Given the description of an element on the screen output the (x, y) to click on. 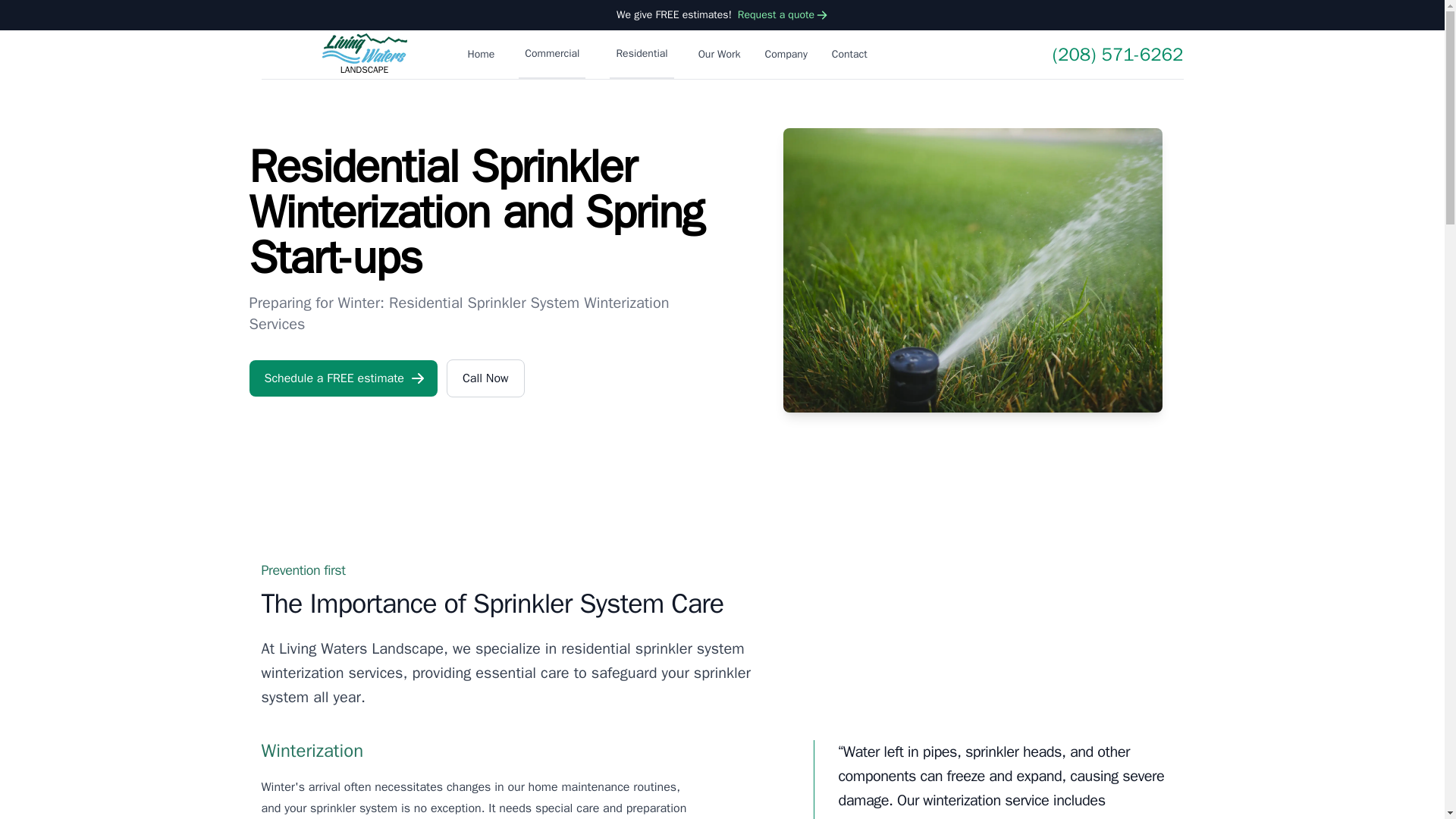
Home (481, 54)
Commercial (551, 54)
Call Now (485, 378)
Schedule a FREE estimate (342, 377)
Request a quote (363, 54)
Residential (783, 14)
